Given the description of an element on the screen output the (x, y) to click on. 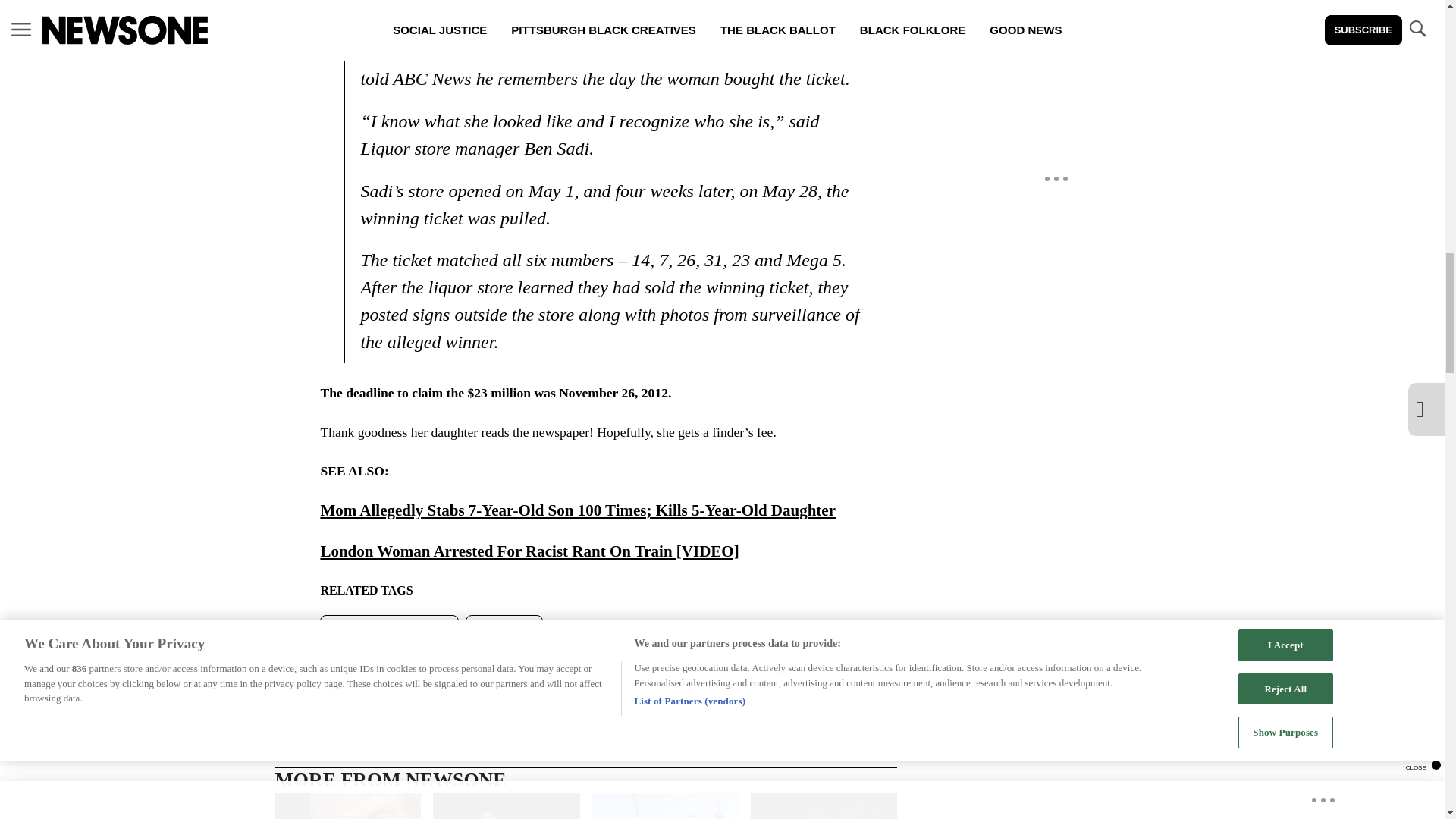
Vuukle Sharebar Widget (585, 667)
GOOD NEW (504, 628)
CALIFORNIA LOTTERY (389, 628)
